Given the description of an element on the screen output the (x, y) to click on. 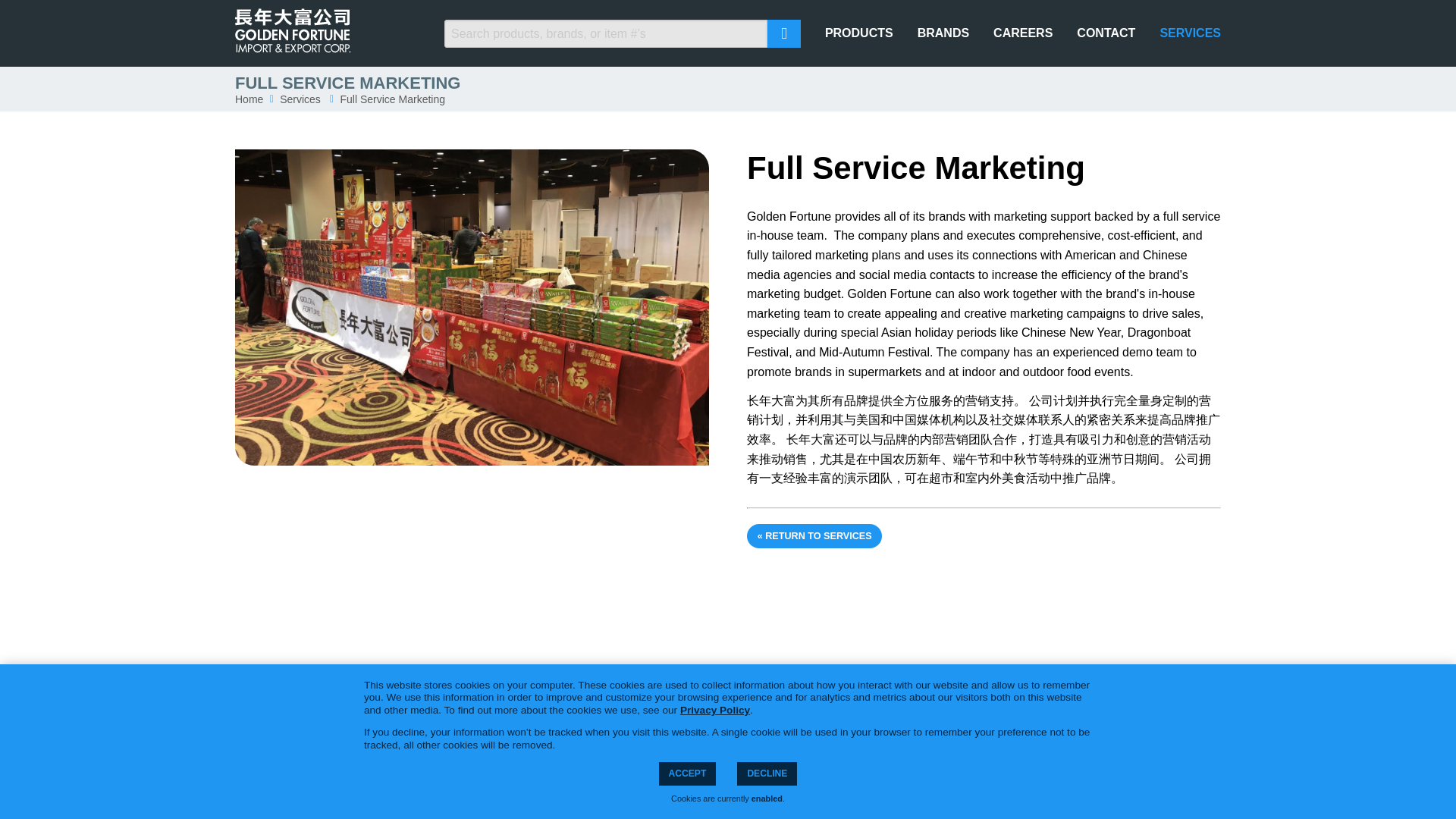
PRODUCTS (859, 753)
Facebook (389, 751)
SERVICES (1189, 33)
Privacy Policy (714, 709)
BRANDS (943, 33)
Instagram (461, 751)
PRODUCTS (859, 33)
Full Service Marketing (392, 99)
CONTACT (1106, 753)
Home (248, 99)
ACCEPT (687, 773)
LinkedIn (424, 751)
DECLINE (766, 773)
BRANDS (943, 753)
Services (299, 99)
